Given the description of an element on the screen output the (x, y) to click on. 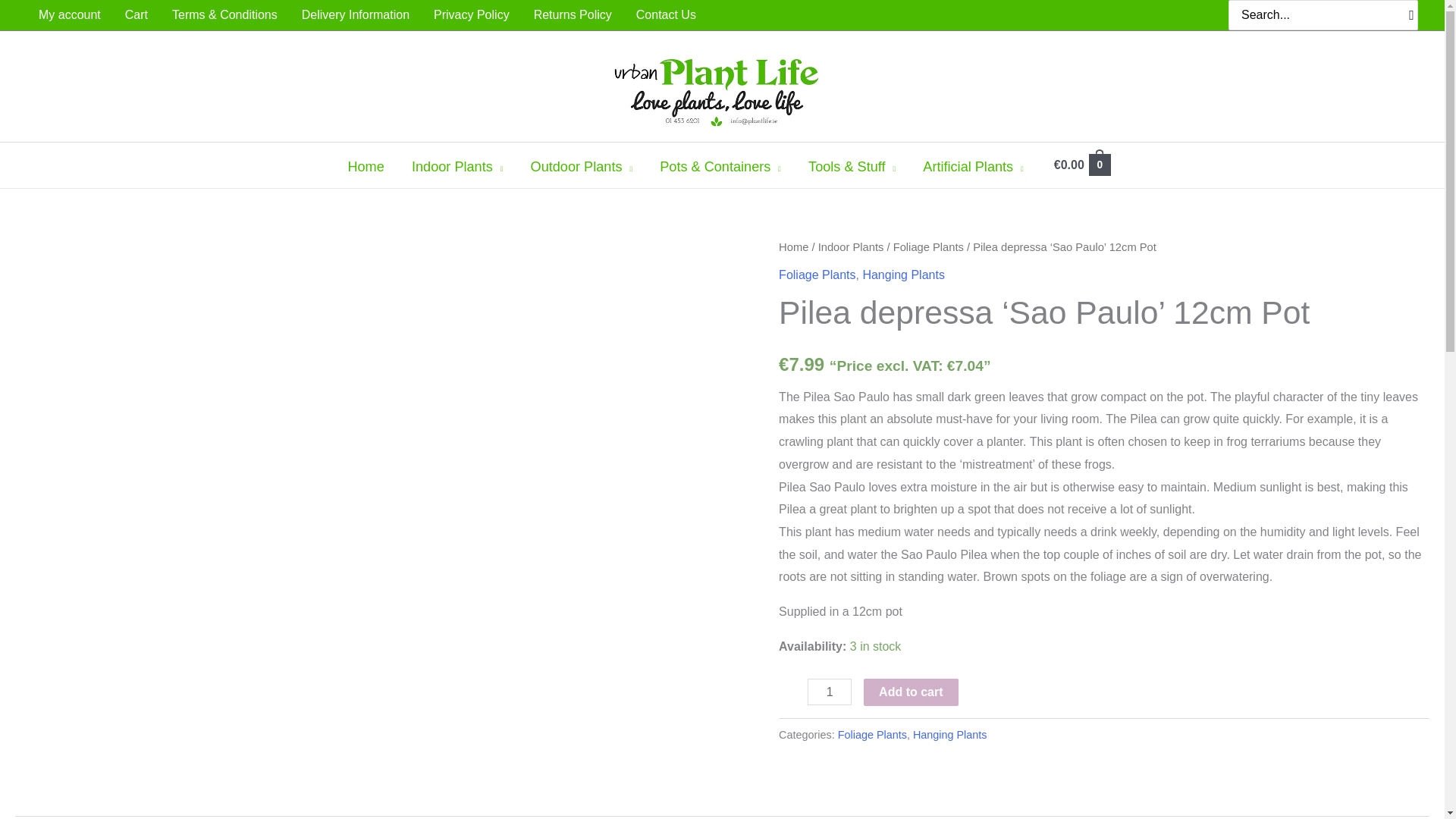
Returns Policy (572, 15)
My account (69, 15)
1 (829, 691)
Outdoor Plants (581, 167)
Contact Us (665, 15)
Privacy Policy (471, 15)
Indoor Plants (456, 167)
Home (365, 167)
Delivery Information (355, 15)
Cart (136, 15)
